Given the description of an element on the screen output the (x, y) to click on. 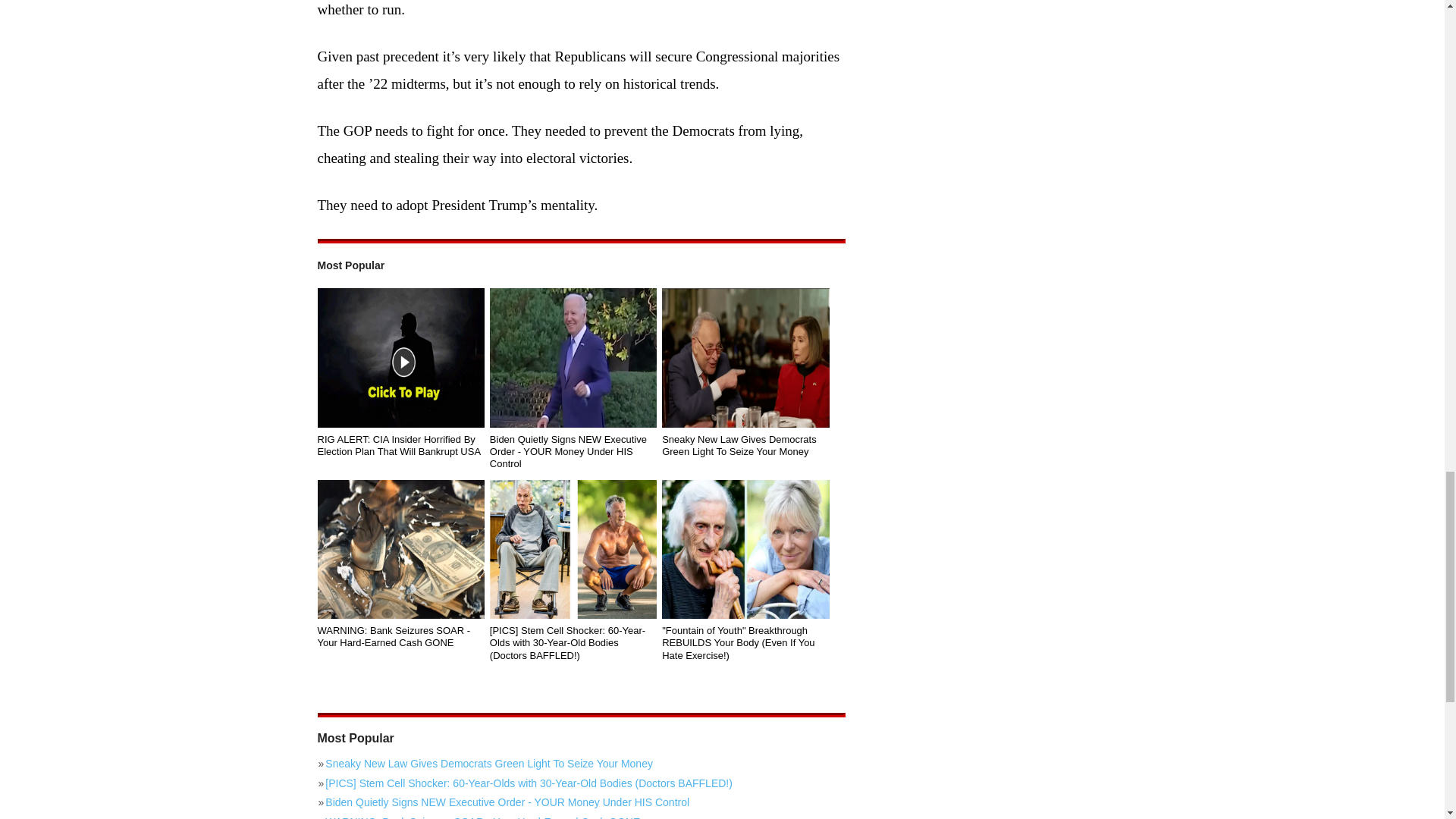
WARNING: Bank Seizures SOAR - Your Hard-Earned Cash GONE (400, 636)
WARNING: Bank Seizures SOAR - Your Hard-Earned Cash GONE (400, 549)
